Given the description of an element on the screen output the (x, y) to click on. 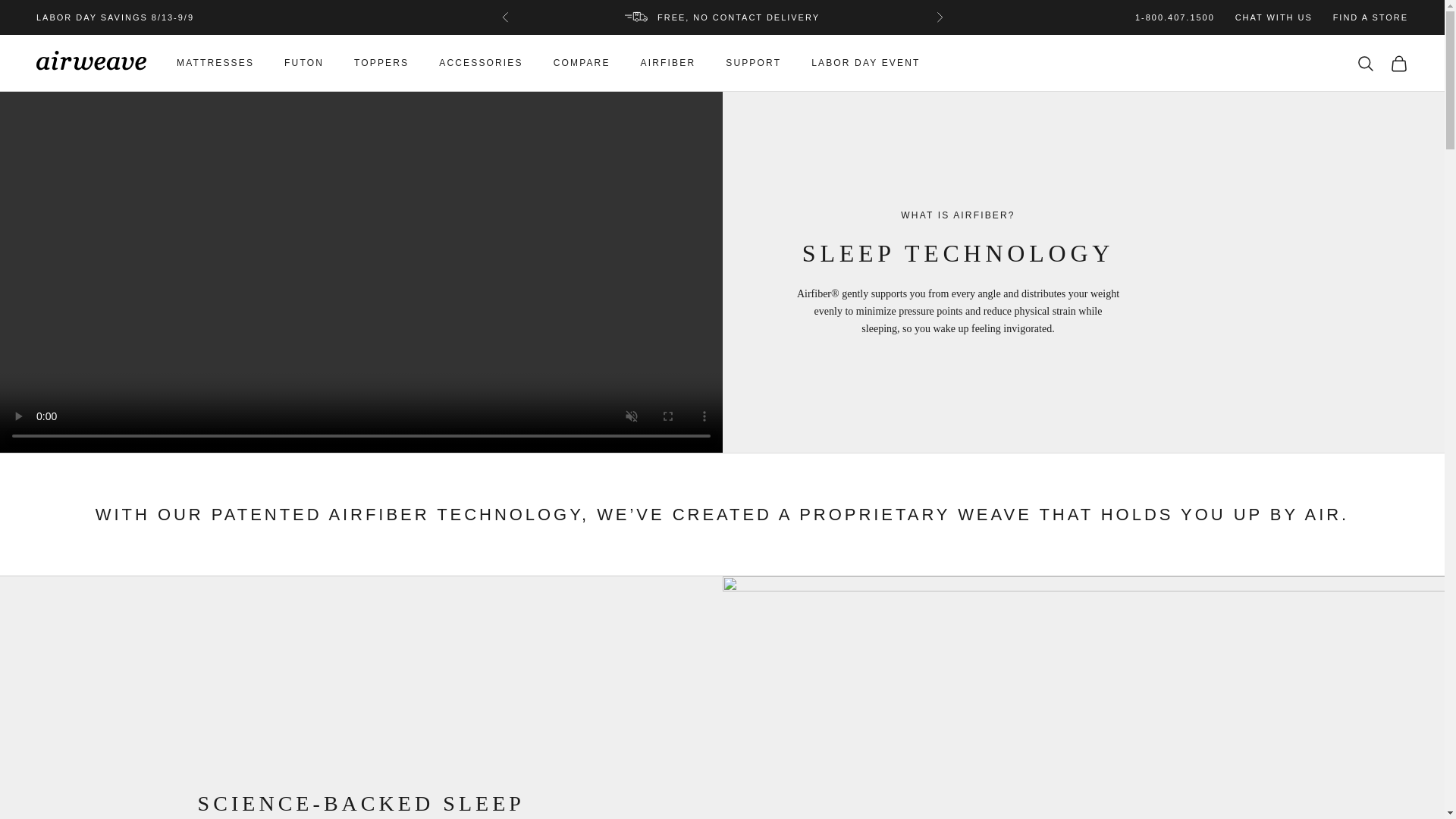
FIND A STORE (1370, 17)
CHAT WITH US (1273, 17)
1-800.407.1500 (1174, 17)
